Given the description of an element on the screen output the (x, y) to click on. 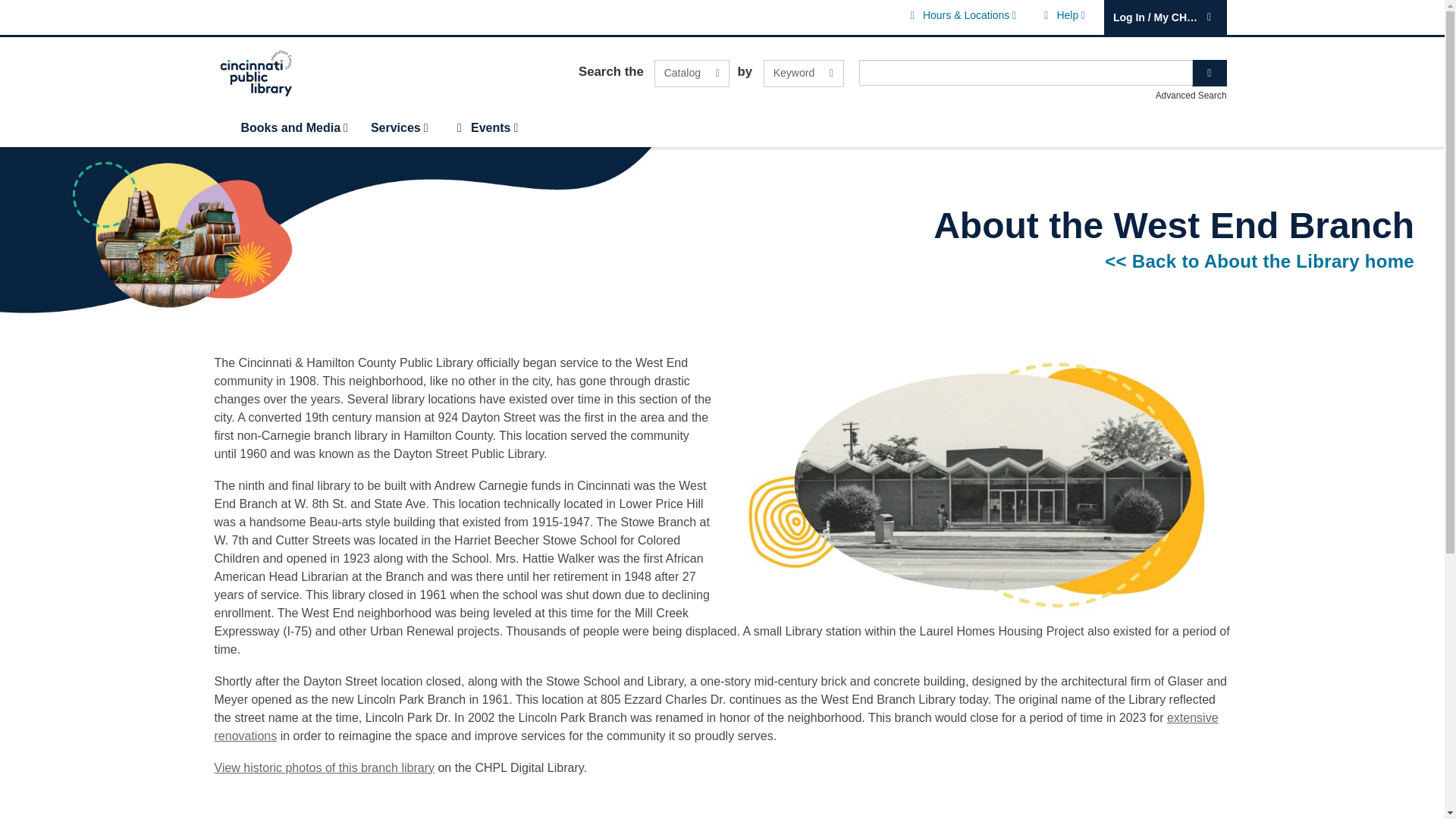
Keyword (691, 72)
Catalog (803, 72)
